Given the description of an element on the screen output the (x, y) to click on. 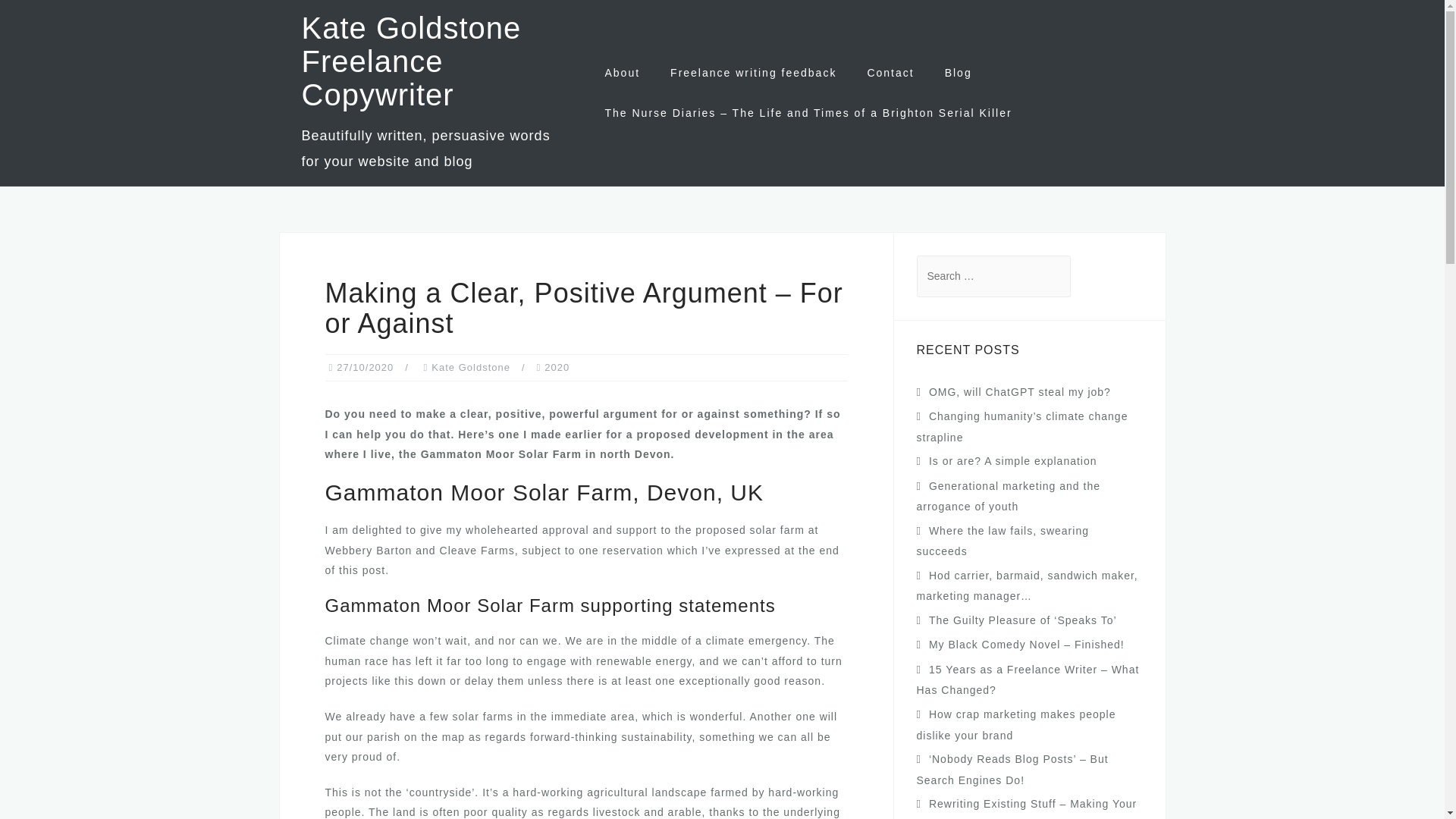
Freelance writing feedback (752, 72)
Is or are? A simple explanation (1012, 460)
How crap marketing makes people dislike your brand (1015, 725)
Kate Goldstone (470, 367)
Blog (958, 72)
Kate Goldstone Freelance Copywriter (411, 61)
Search (54, 20)
OMG, will ChatGPT steal my job? (1019, 391)
Generational marketing and the arrogance of youth (1007, 496)
Where the law fails, swearing succeeds (1001, 540)
